Given the description of an element on the screen output the (x, y) to click on. 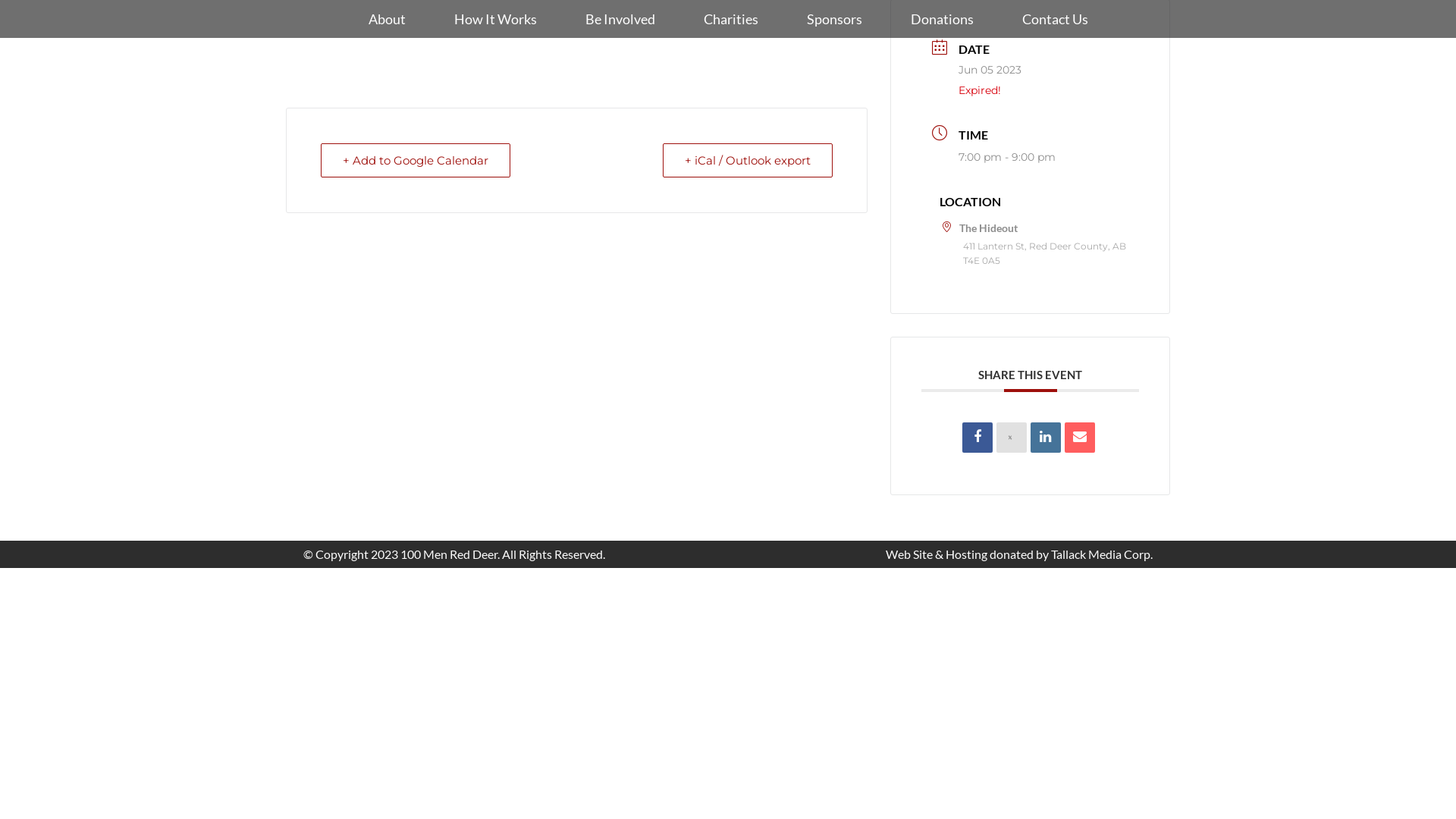
Linkedin Element type: hover (1045, 437)
Share on Facebook Element type: hover (977, 437)
X Social Network Element type: hover (1011, 437)
Sponsors Element type: text (834, 18)
About Element type: text (386, 18)
Donations Element type: text (941, 18)
Charities Element type: text (730, 18)
Email Element type: hover (1079, 437)
How It Works Element type: text (494, 18)
Be Involved Element type: text (620, 18)
+ iCal / Outlook export Element type: text (747, 160)
Contact Us Element type: text (1055, 18)
Web Site & Hosting donated by Tallack Media Corp. Element type: text (1018, 553)
+ Add to Google Calendar Element type: text (415, 160)
